Given the description of an element on the screen output the (x, y) to click on. 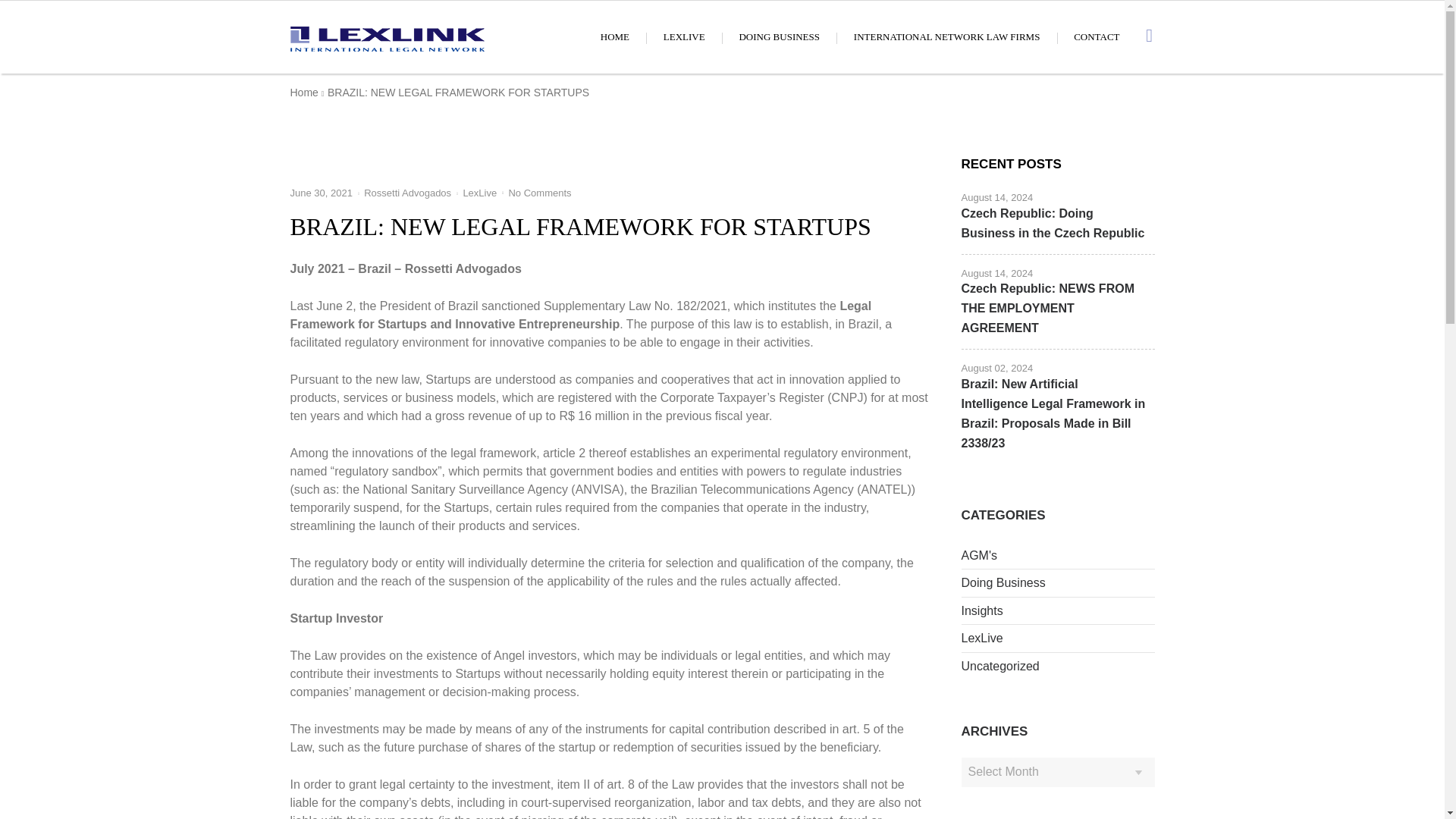
CONTACT (1097, 36)
LEXLIVE (684, 36)
INTERNATIONAL NETWORK LAW FIRMS (946, 36)
HOME (614, 36)
DOING BUSINESS (778, 36)
